Given the description of an element on the screen output the (x, y) to click on. 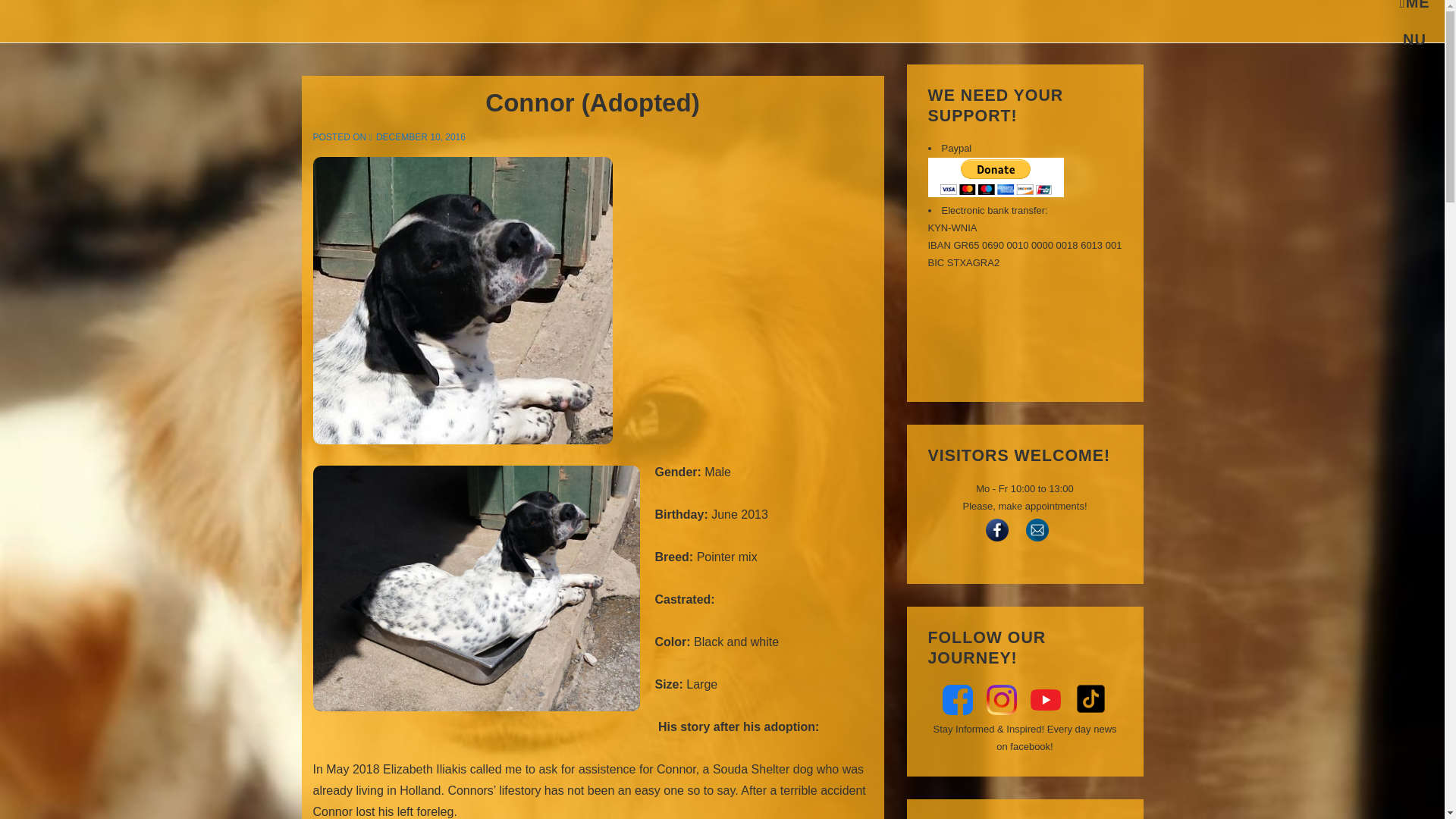
youtube (1045, 699)
Instagram (1001, 699)
Tiktok (1414, 10)
Facebook (1090, 698)
